Given the description of an element on the screen output the (x, y) to click on. 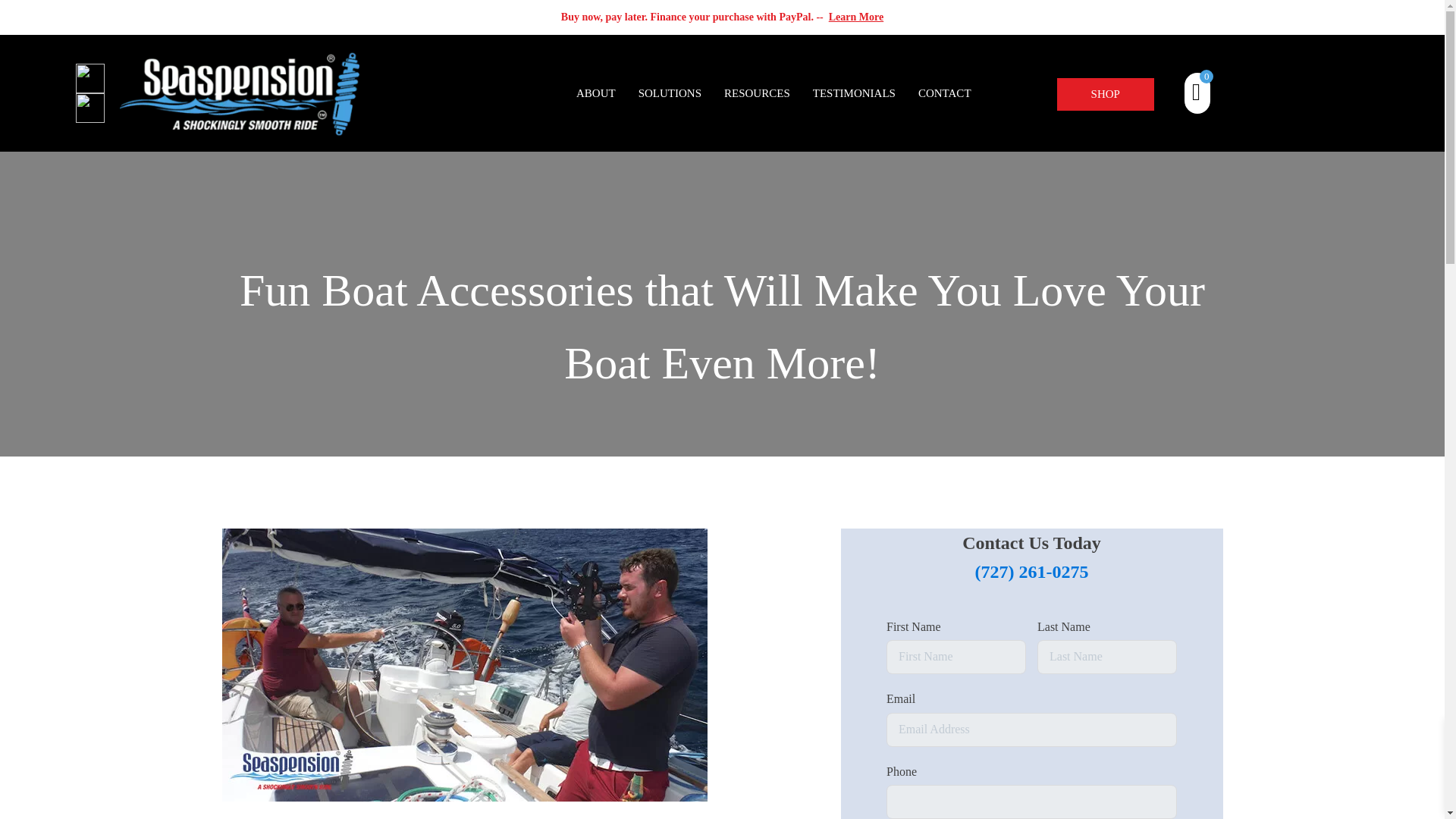
Learn More (855, 16)
SHOP (1105, 94)
shock mitigating boat seats (874, 92)
TESTIMONIALS (854, 93)
about best boat seat pedestal base (595, 93)
boat seating solutions (239, 92)
ABOUT (595, 93)
SOLUTIONS (670, 93)
CONTACT (944, 93)
RESOURCES (757, 93)
